Given the description of an element on the screen output the (x, y) to click on. 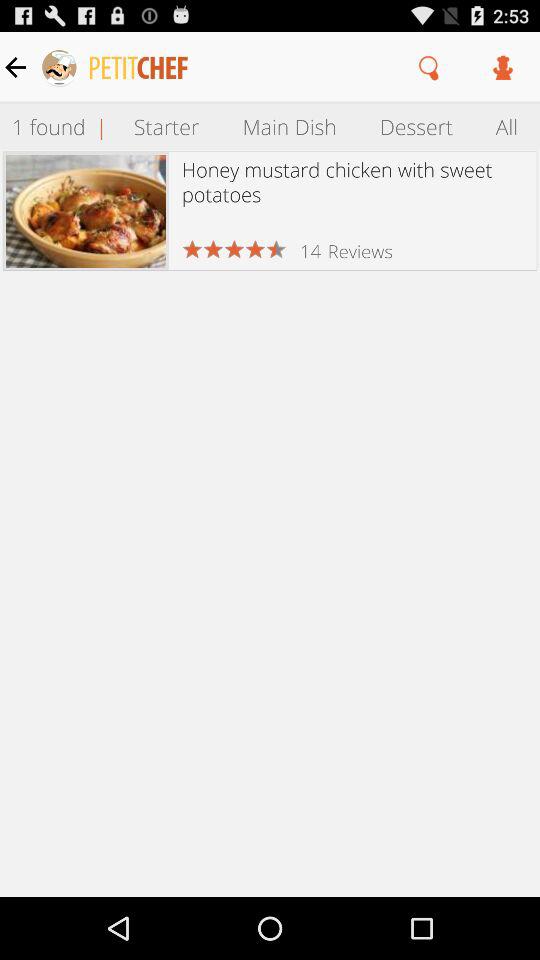
launch item to the right of dessert item (507, 126)
